Given the description of an element on the screen output the (x, y) to click on. 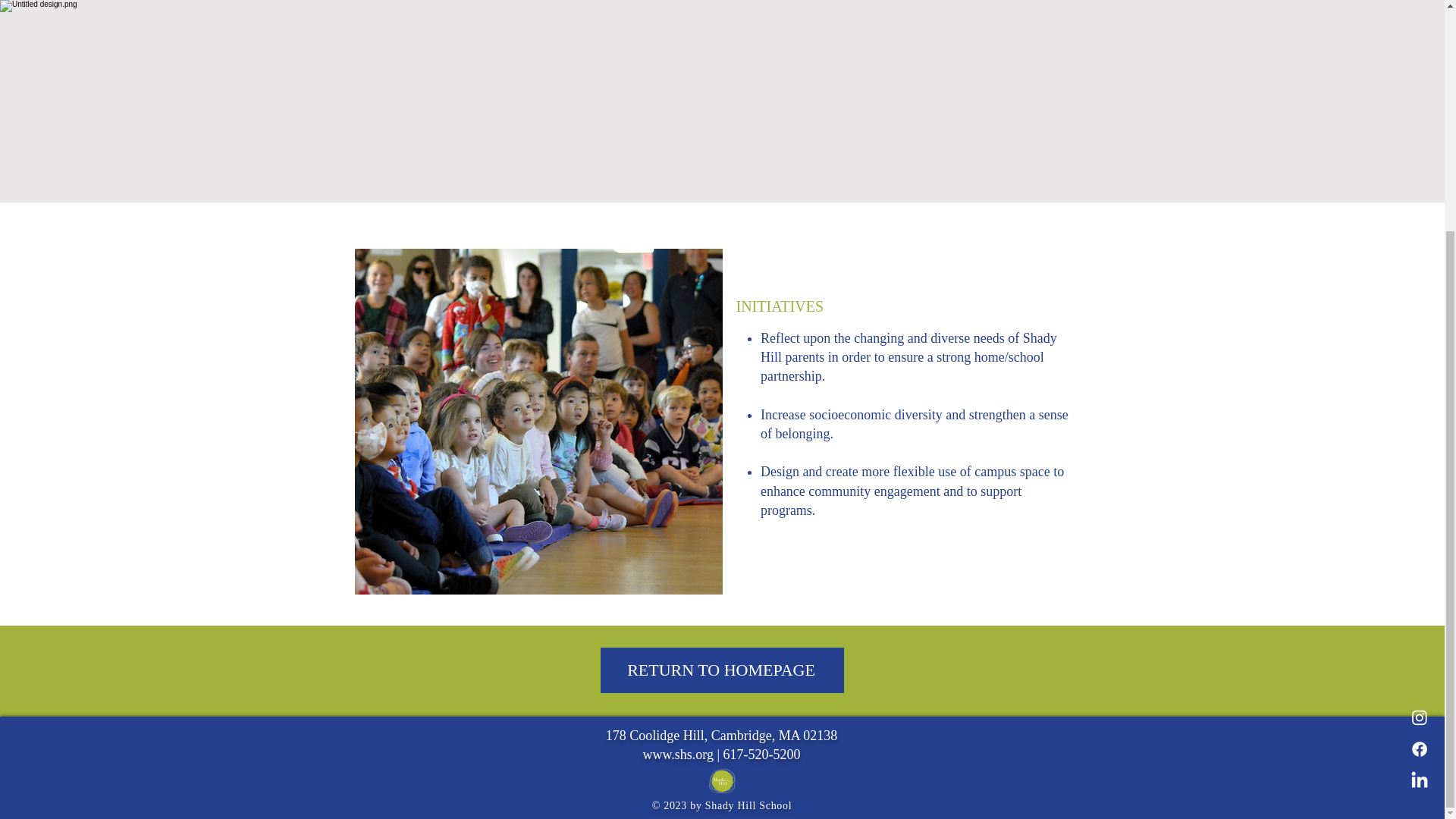
RETURN TO HOMEPAGE (721, 670)
www.shs.org (677, 754)
